Given the description of an element on the screen output the (x, y) to click on. 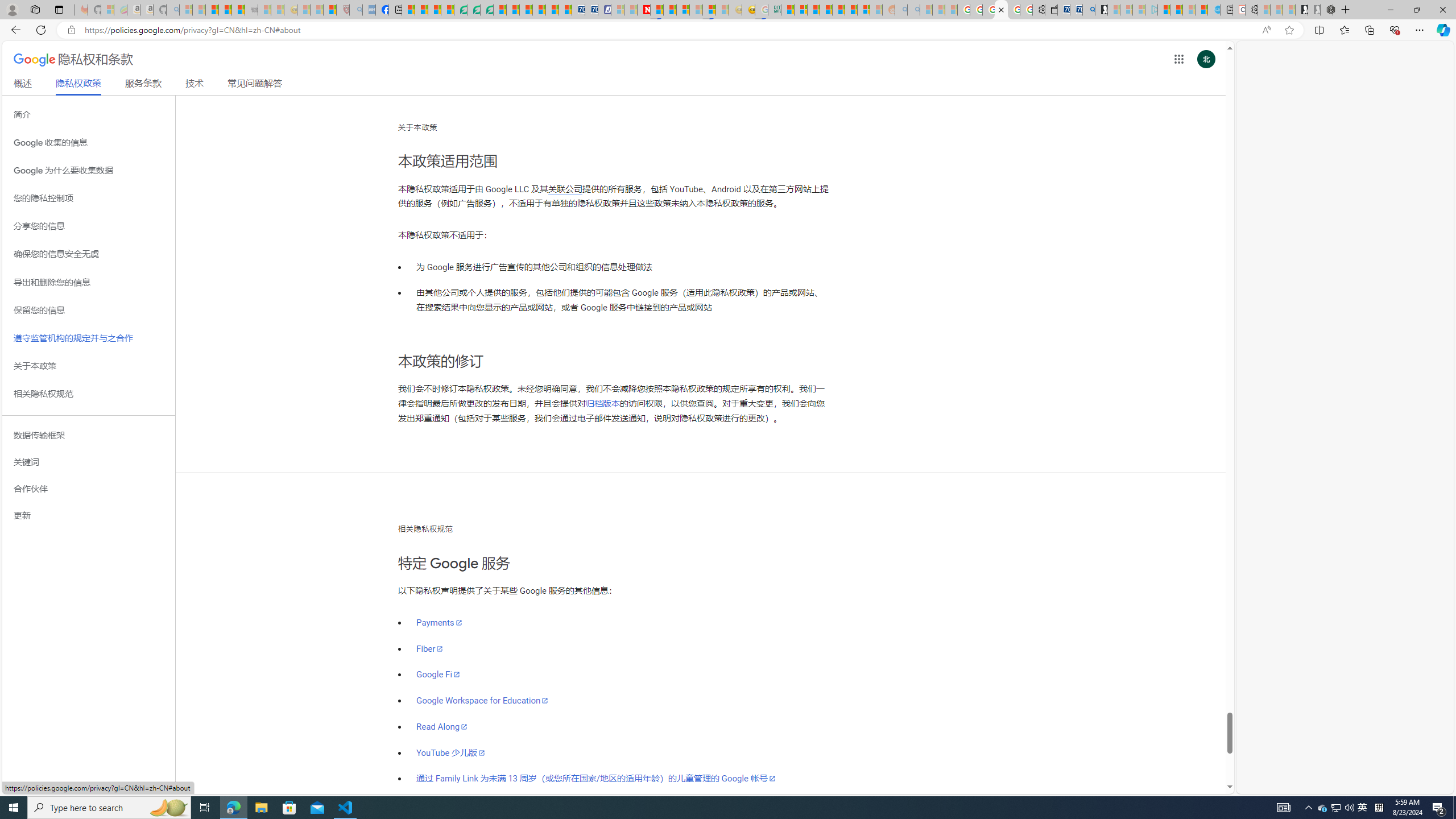
LendingTree - Compare Lenders (460, 9)
Kinda Frugal - MSN (850, 9)
